Given the description of an element on the screen output the (x, y) to click on. 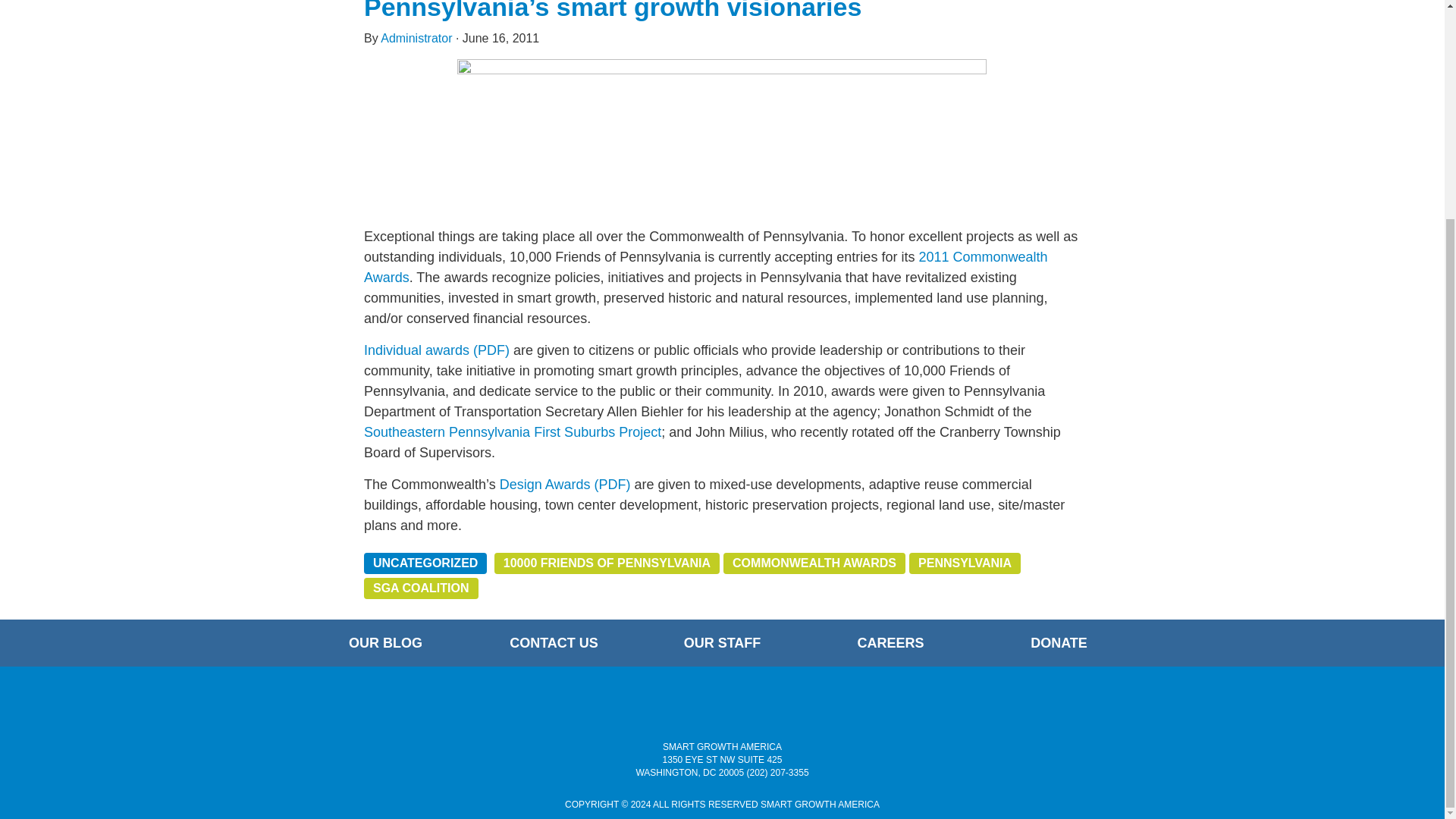
2011 Commonwealth Awards (706, 267)
UNCATEGORIZED (425, 563)
Carson Street (722, 128)
10000 FRIENDS OF PENNSYLVANIA (607, 563)
Administrator (415, 38)
PENNSYLVANIA (964, 563)
Southeastern Pennsylvania First Suburbs Project (512, 432)
SGA COALITION (421, 588)
COMMONWEALTH AWARDS (814, 563)
